Given the description of an element on the screen output the (x, y) to click on. 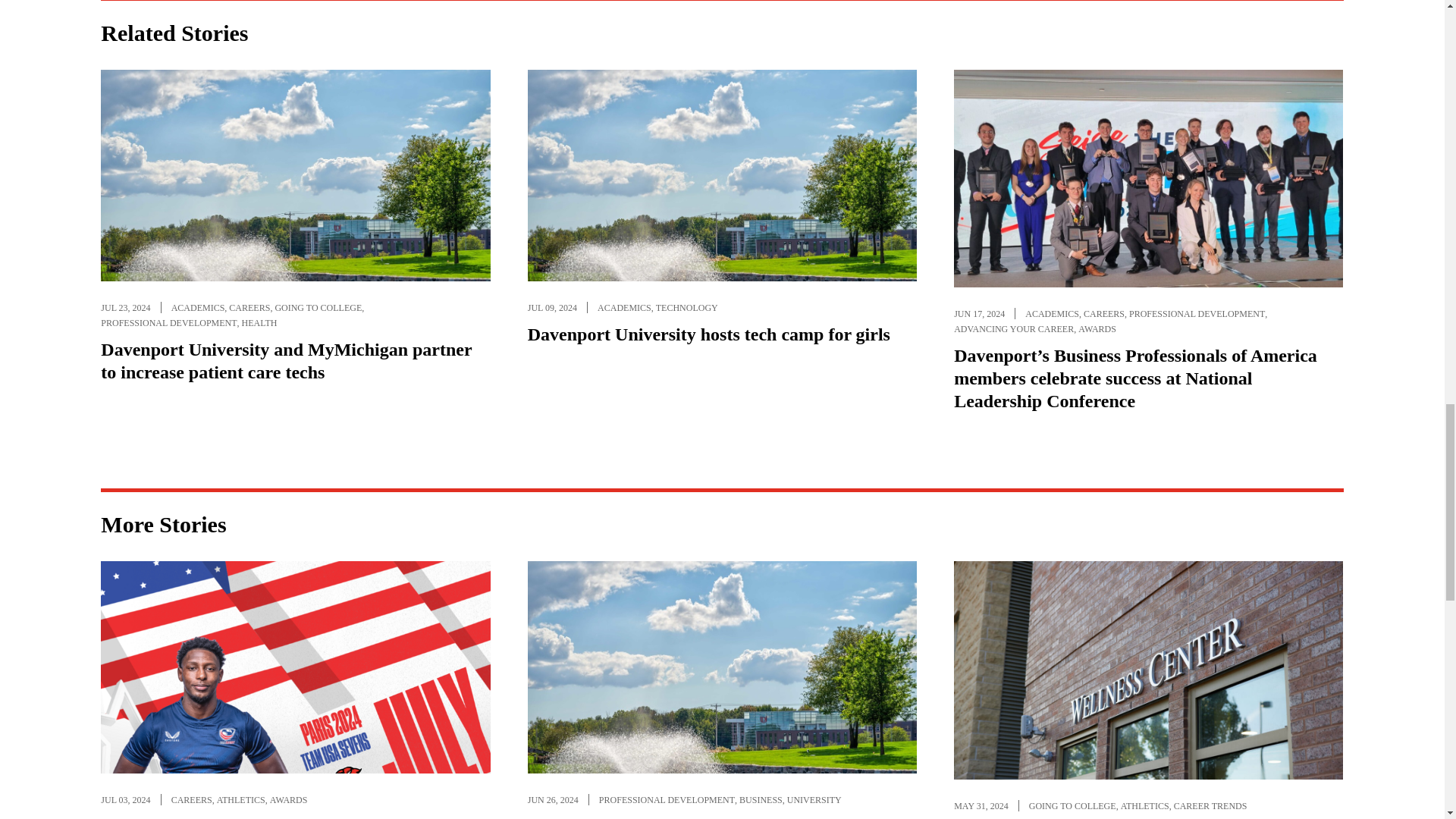
ACADEMICS (198, 307)
GOING TO COLLEGE (318, 307)
CAREERS (248, 307)
